Given the description of an element on the screen output the (x, y) to click on. 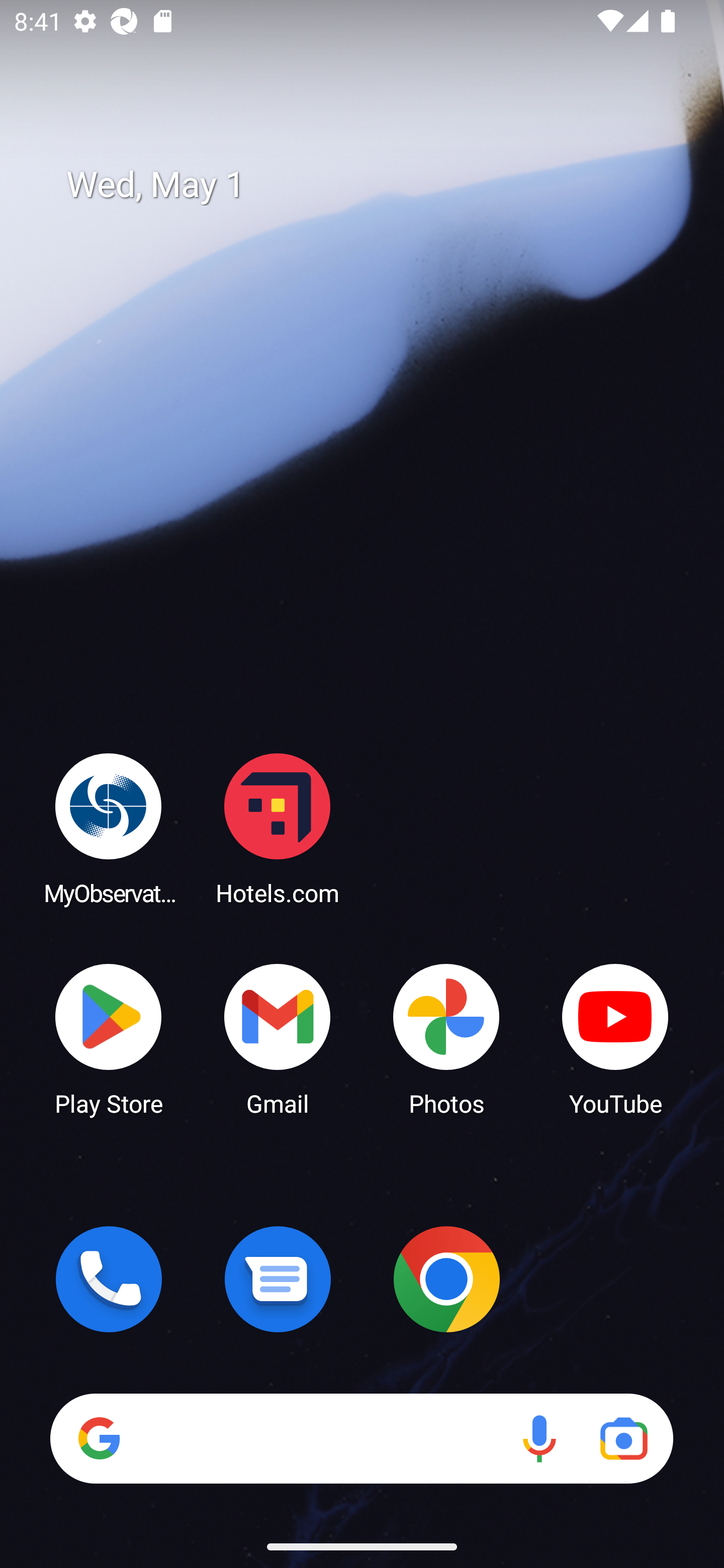
Wed, May 1 (375, 184)
MyObservatory (108, 828)
Hotels.com (277, 828)
Play Store (108, 1038)
Gmail (277, 1038)
Photos (445, 1038)
YouTube (615, 1038)
Phone (108, 1279)
Messages (277, 1279)
Chrome (446, 1279)
Search Voice search Google Lens (361, 1438)
Voice search (539, 1438)
Google Lens (623, 1438)
